Given the description of an element on the screen output the (x, y) to click on. 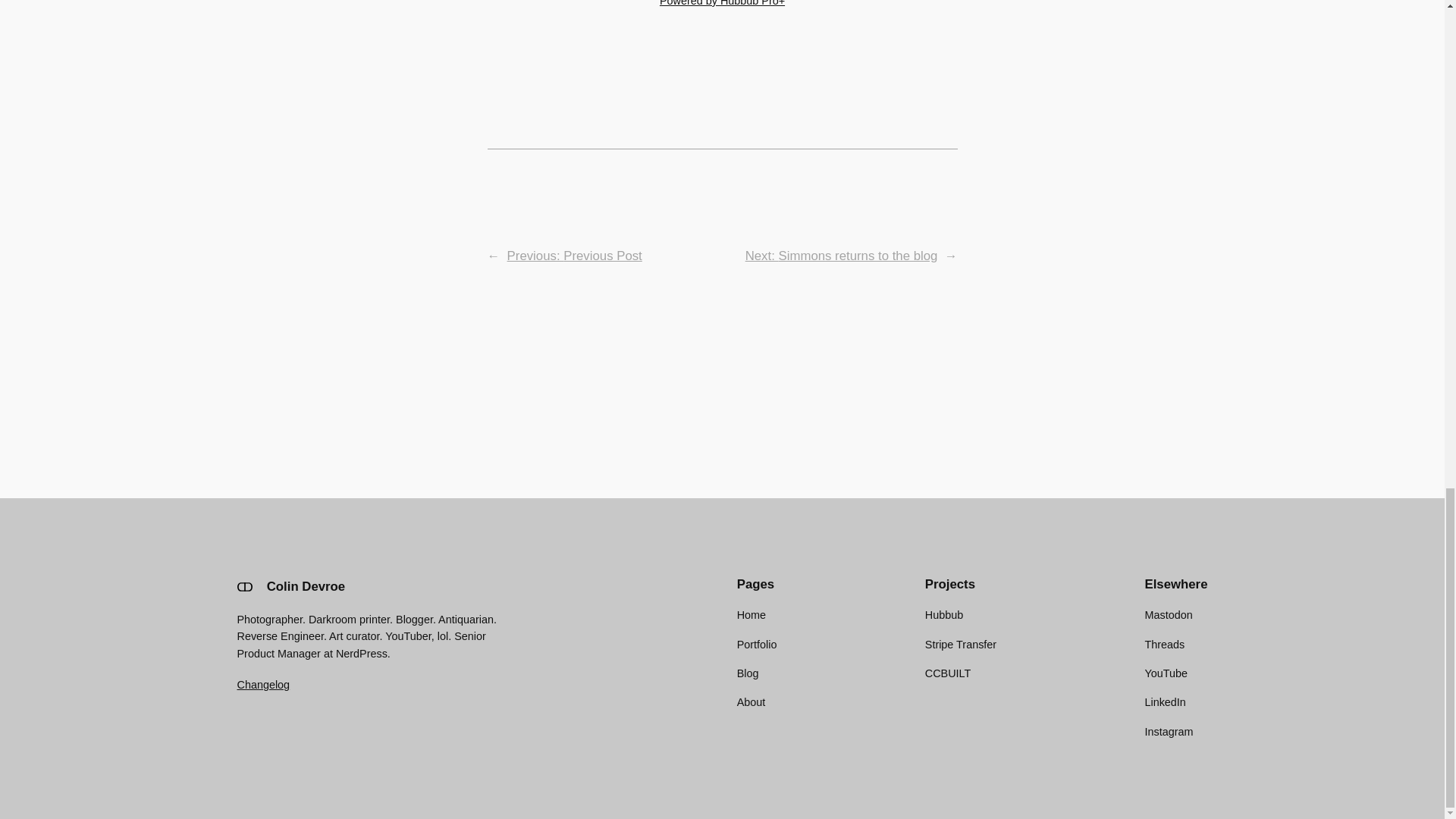
Next: Simmons returns to the blog (841, 255)
Colin Devroe (306, 586)
Previous: Previous Post (574, 255)
